Given the description of an element on the screen output the (x, y) to click on. 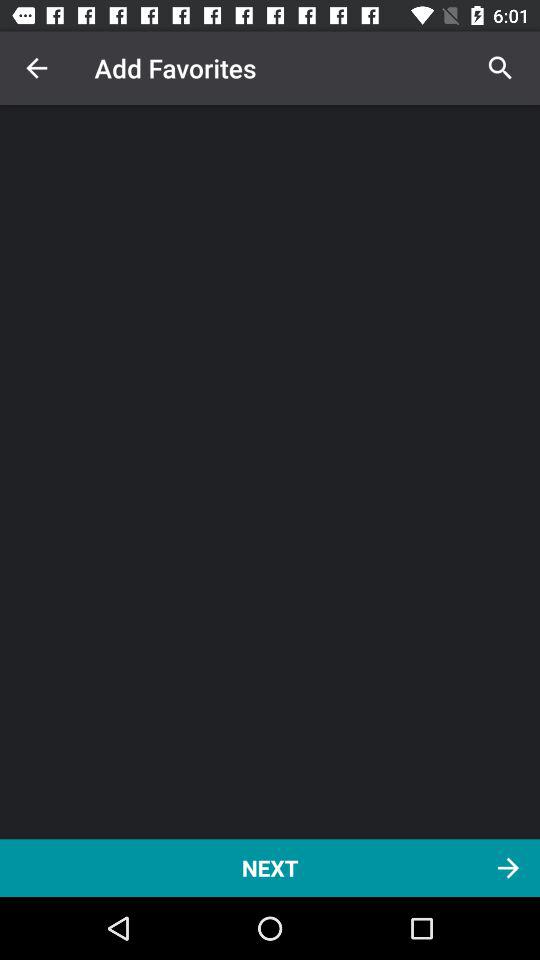
choose the icon above next item (36, 68)
